Given the description of an element on the screen output the (x, y) to click on. 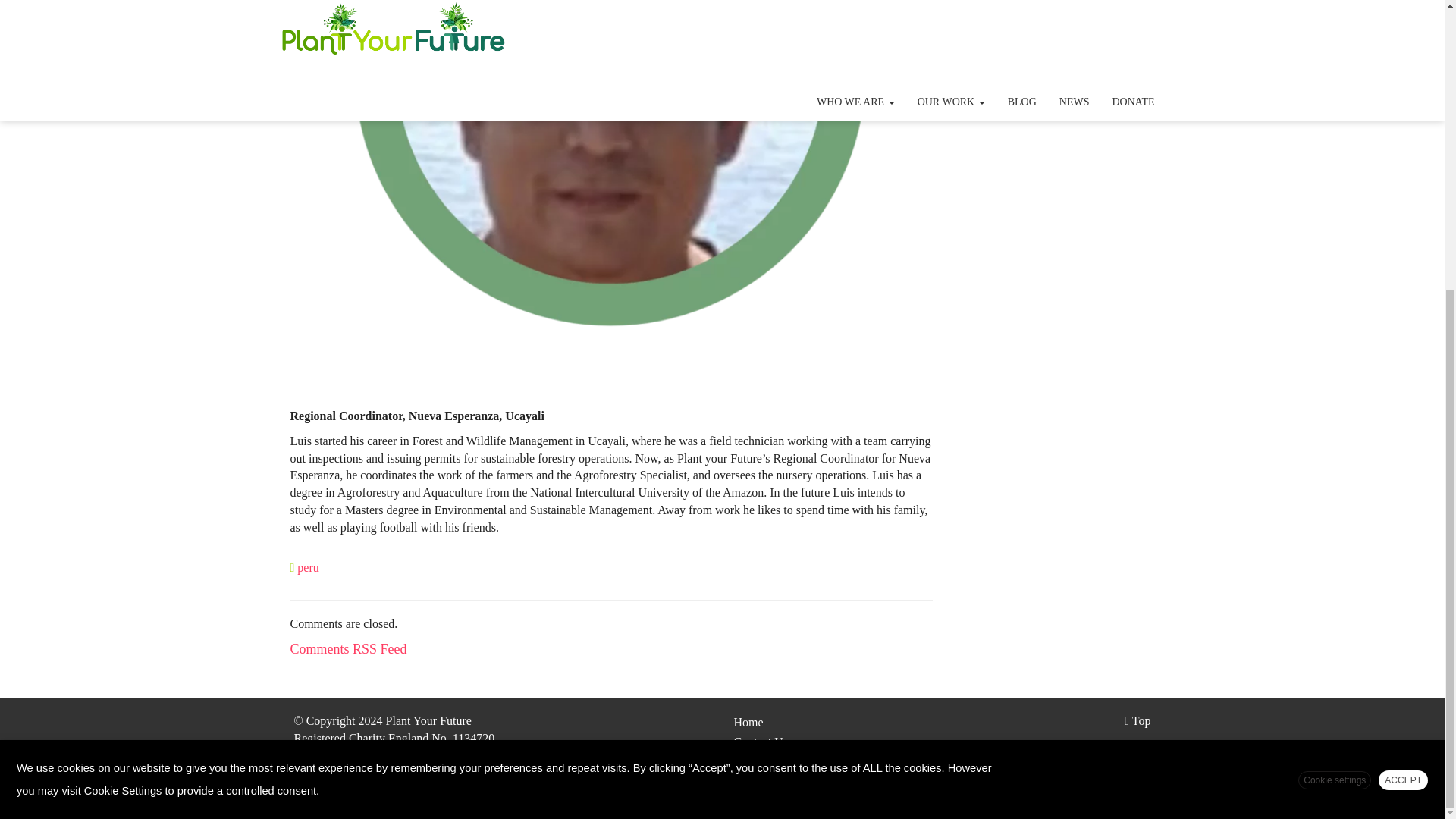
ACCEPT (1403, 340)
Comments RSS Feed (347, 648)
Contact Us (761, 741)
Top (1137, 720)
peru (307, 567)
Cookie settings (1334, 340)
Home (747, 721)
